Given the description of an element on the screen output the (x, y) to click on. 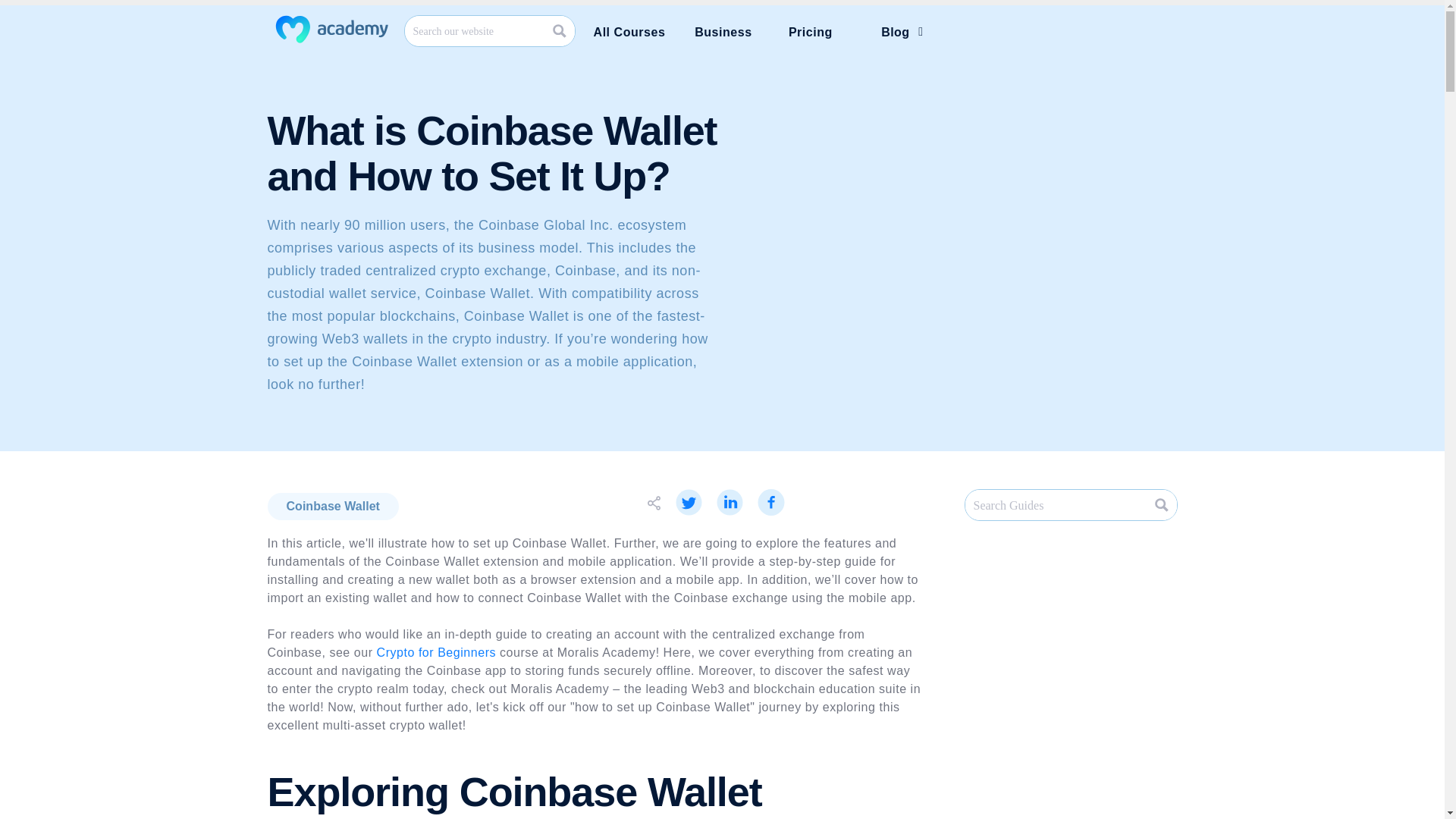
Blog (900, 32)
Blog (900, 32)
All Courses (630, 32)
Coinbase Wallet (331, 506)
Pricing (810, 32)
Business (722, 32)
